Given the description of an element on the screen output the (x, y) to click on. 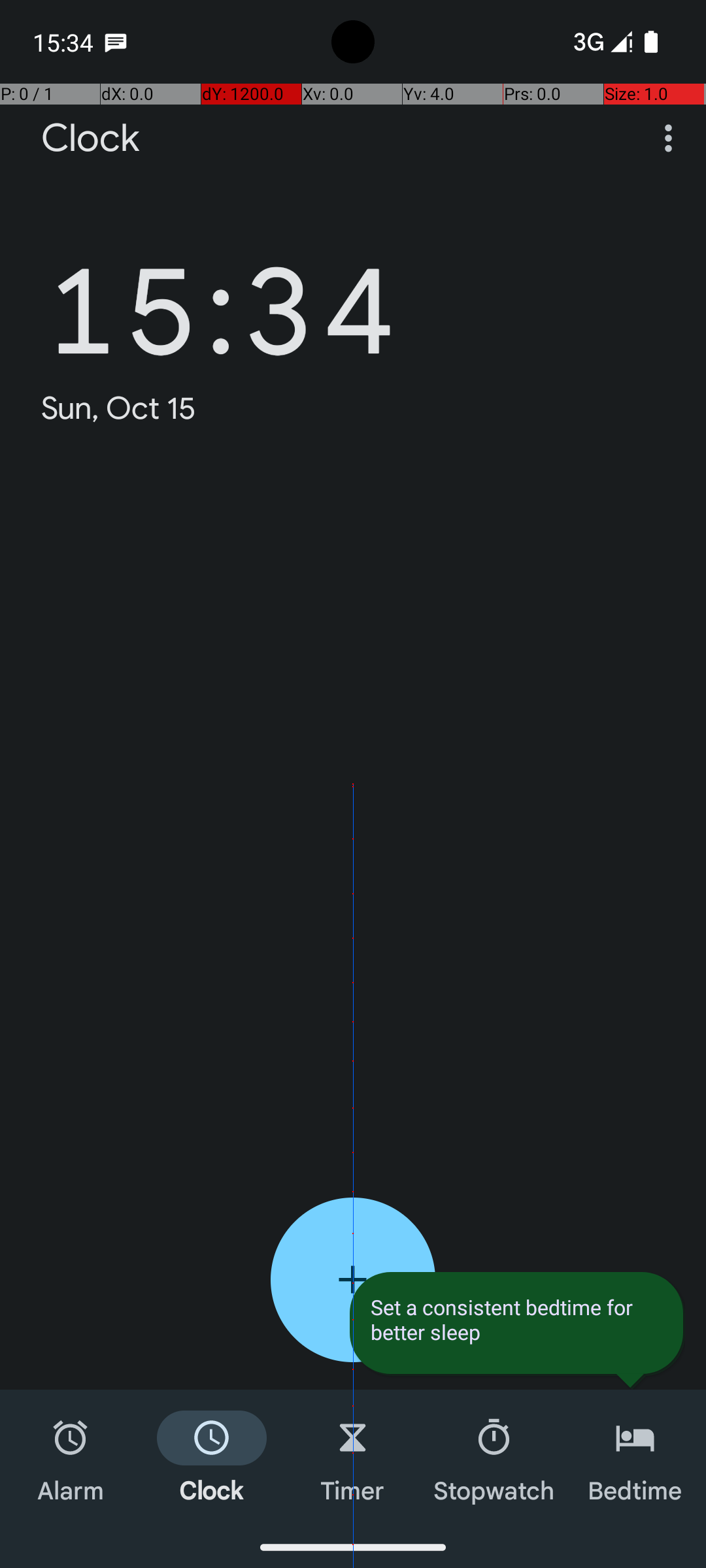
Add city Element type: android.widget.Button (352, 1279)
Sun, Oct 15 Element type: android.widget.TextView (118, 407)
Set a consistent bedtime for better sleep Element type: android.widget.TextView (516, 1318)
SMS Messenger notification: Petar Gonzalez Element type: android.widget.ImageView (115, 41)
